Given the description of an element on the screen output the (x, y) to click on. 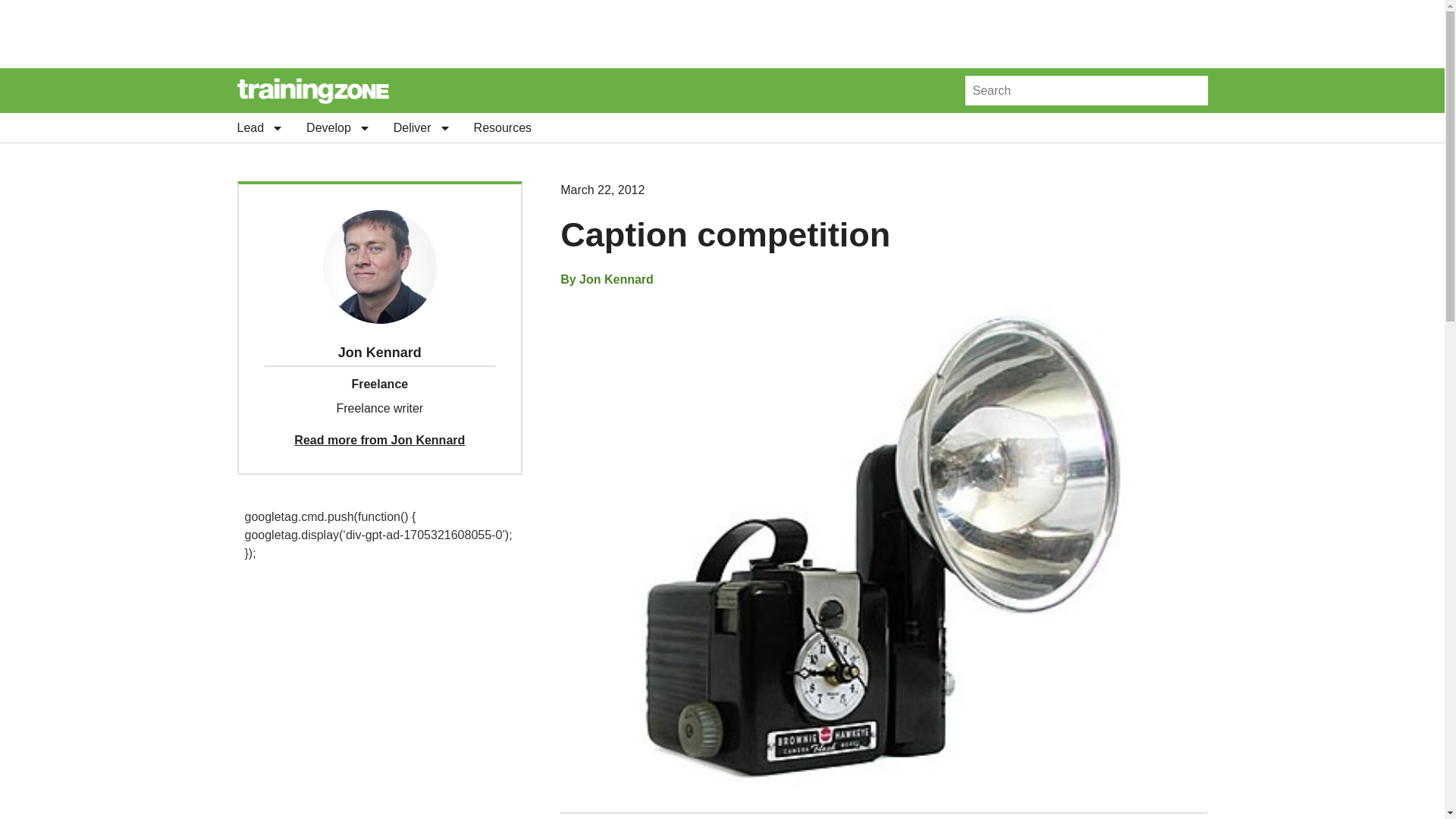
Deliver (422, 127)
Resources (502, 127)
Develop (338, 127)
Lead (259, 127)
By Jon Kennard (606, 280)
Read more from Jon Kennard (379, 440)
